Given the description of an element on the screen output the (x, y) to click on. 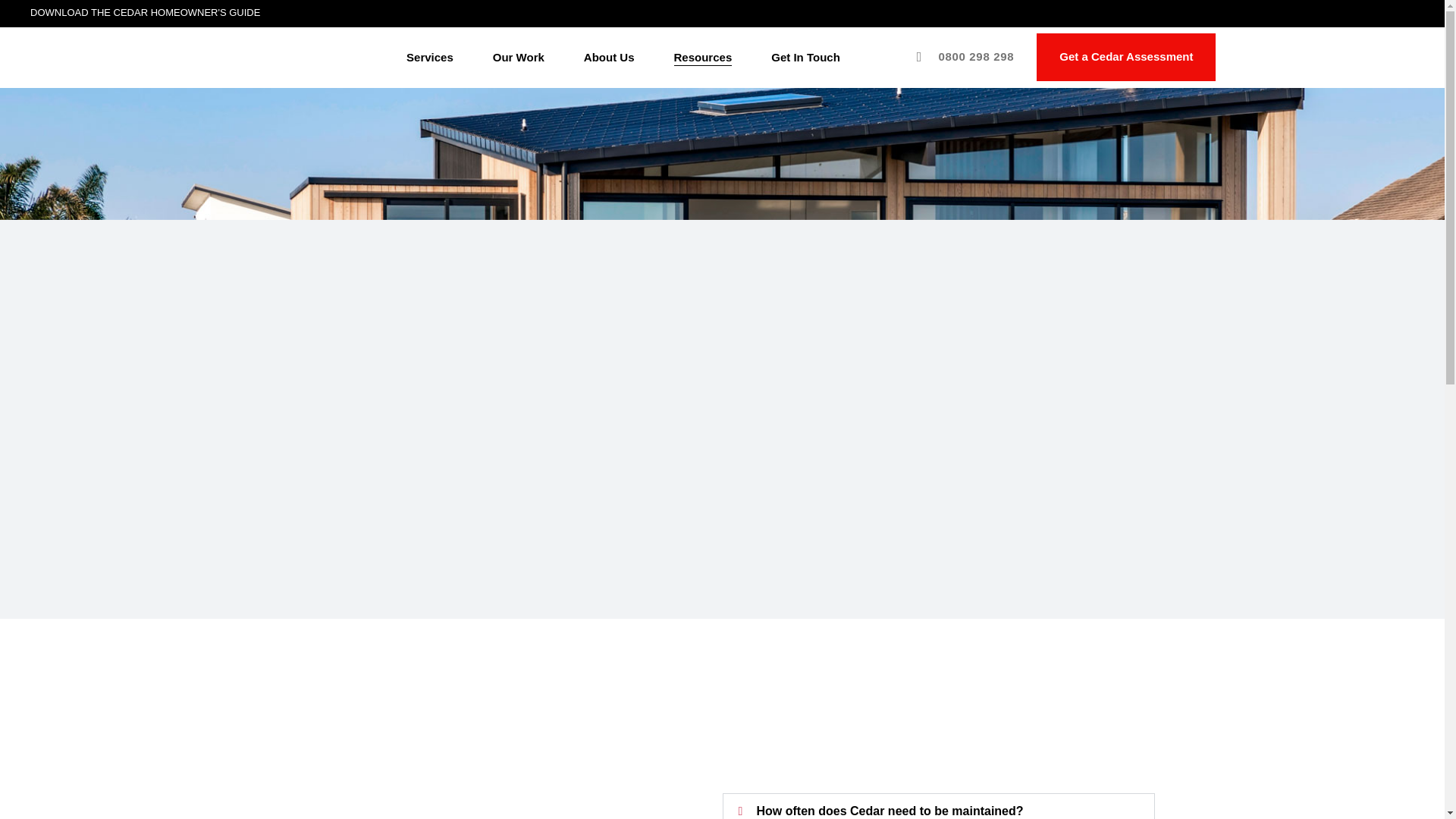
How often does Cedar need to be maintained? (890, 810)
Get a Cedar Assessment (1125, 57)
Resources (703, 56)
0800 298 298 (961, 55)
Get In Touch (805, 56)
DOWNLOAD THE CEDAR HOMEOWNER'S GUIDE (162, 12)
